Given the description of an element on the screen output the (x, y) to click on. 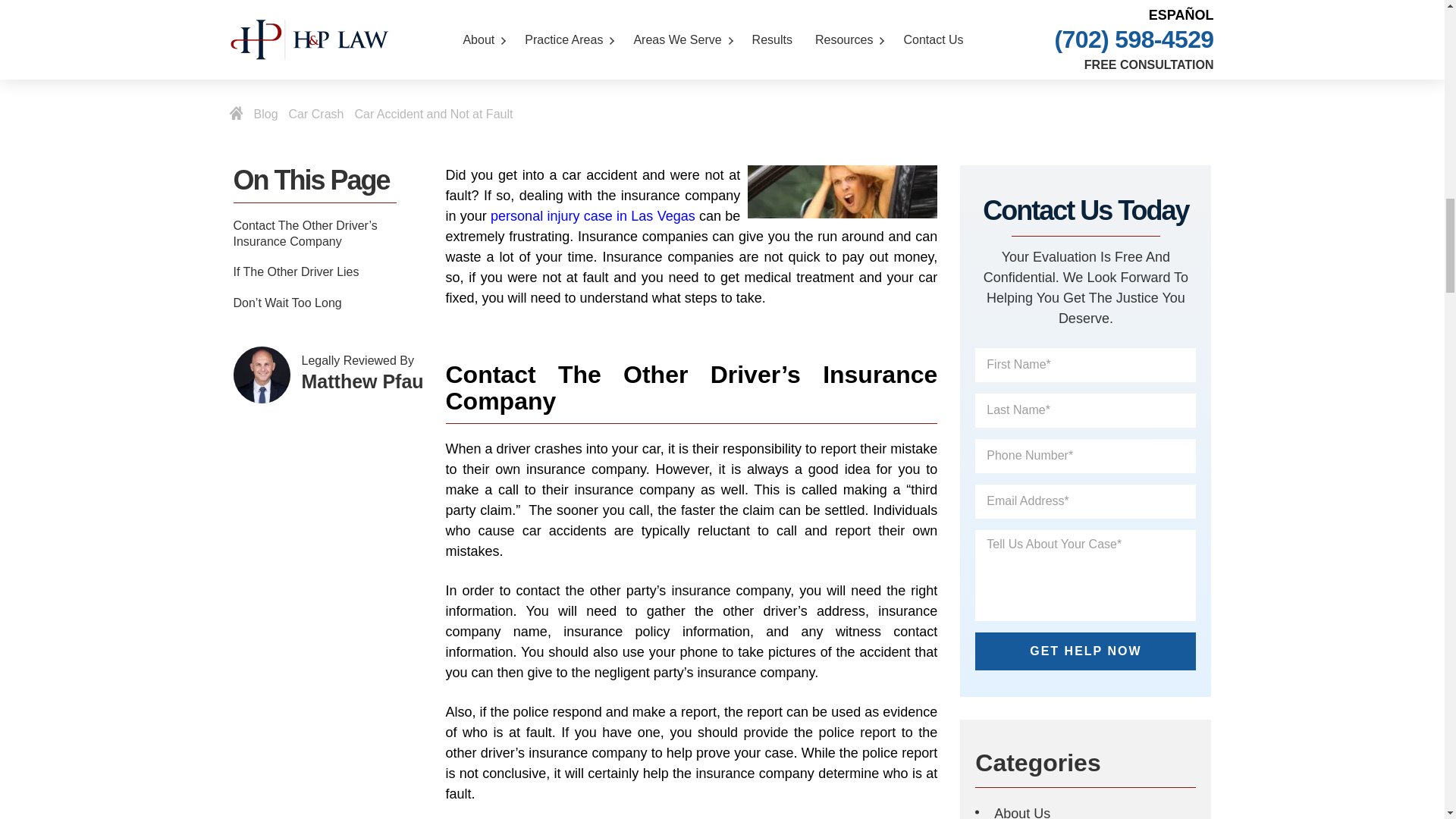
If The Other Driver Lies (329, 272)
GET HELP NOW (1085, 651)
Matthew Pfau (260, 374)
